Given the description of an element on the screen output the (x, y) to click on. 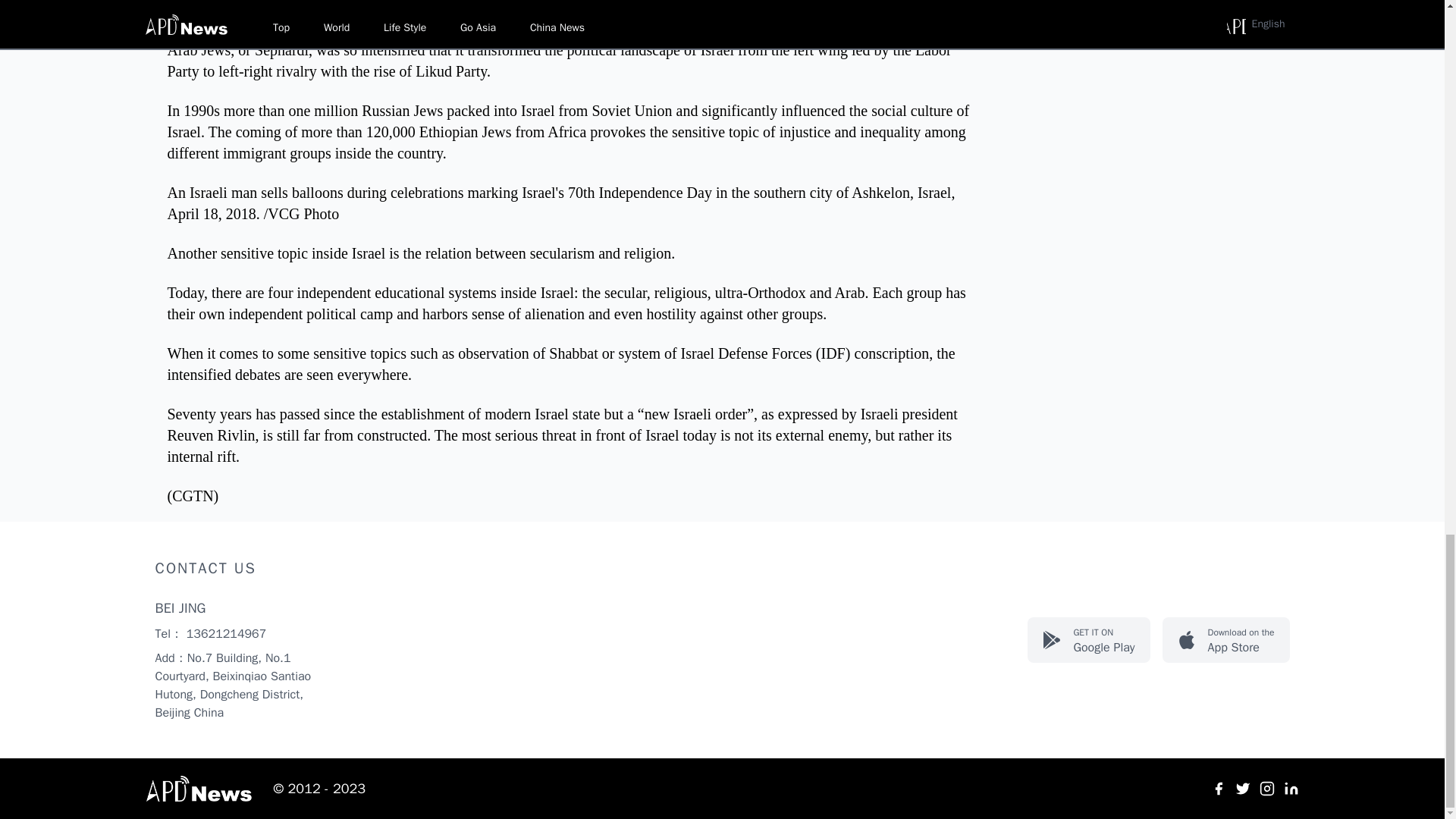
APDNews (1225, 639)
tt (199, 788)
ww (1217, 788)
